Given the description of an element on the screen output the (x, y) to click on. 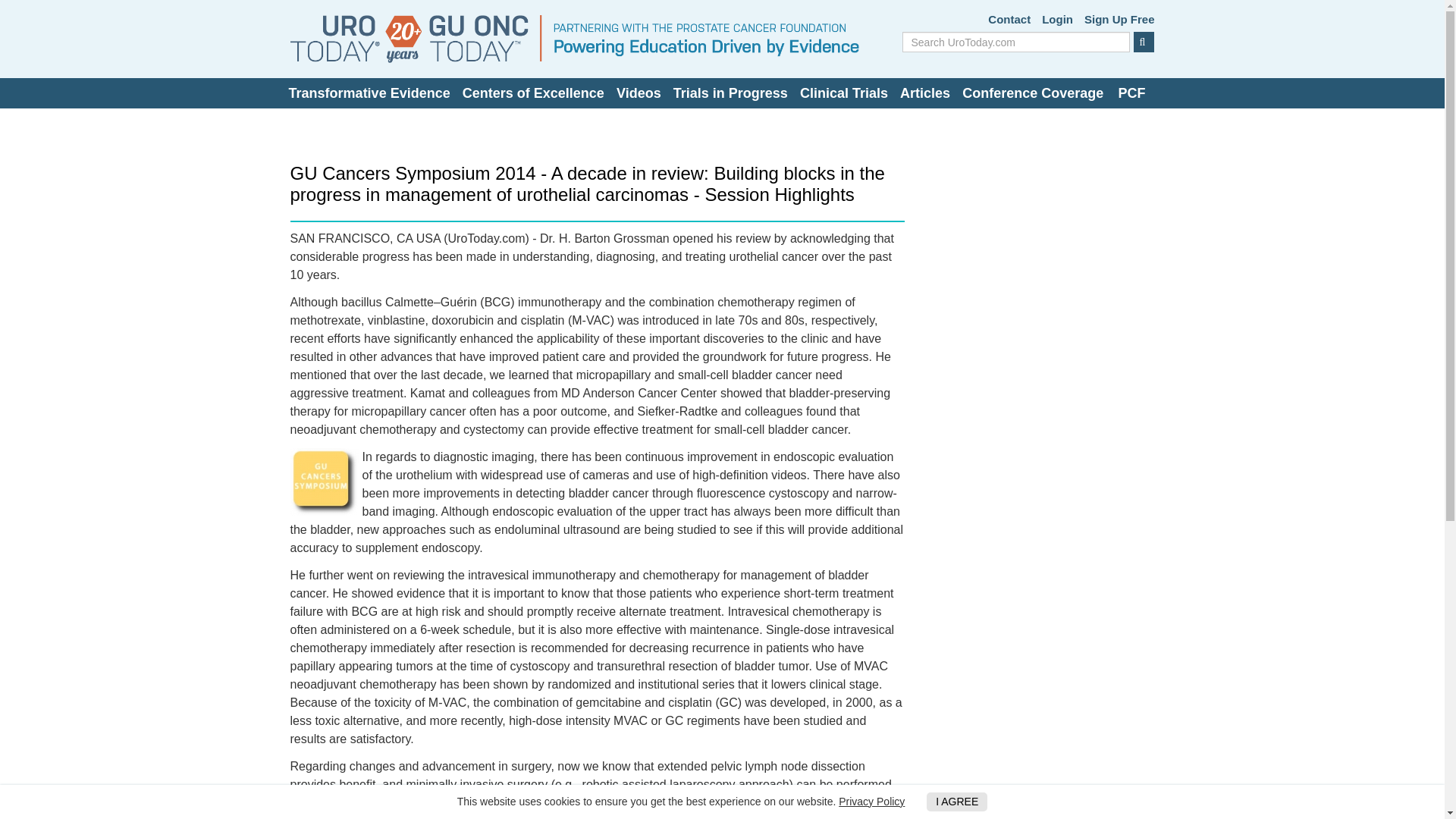
UroToday (574, 39)
I AGREE (956, 801)
Sign Up Free (1119, 19)
Contact (1009, 19)
Login (1057, 19)
Privacy Policy (871, 801)
Centers of Excellence (533, 92)
